Given the description of an element on the screen output the (x, y) to click on. 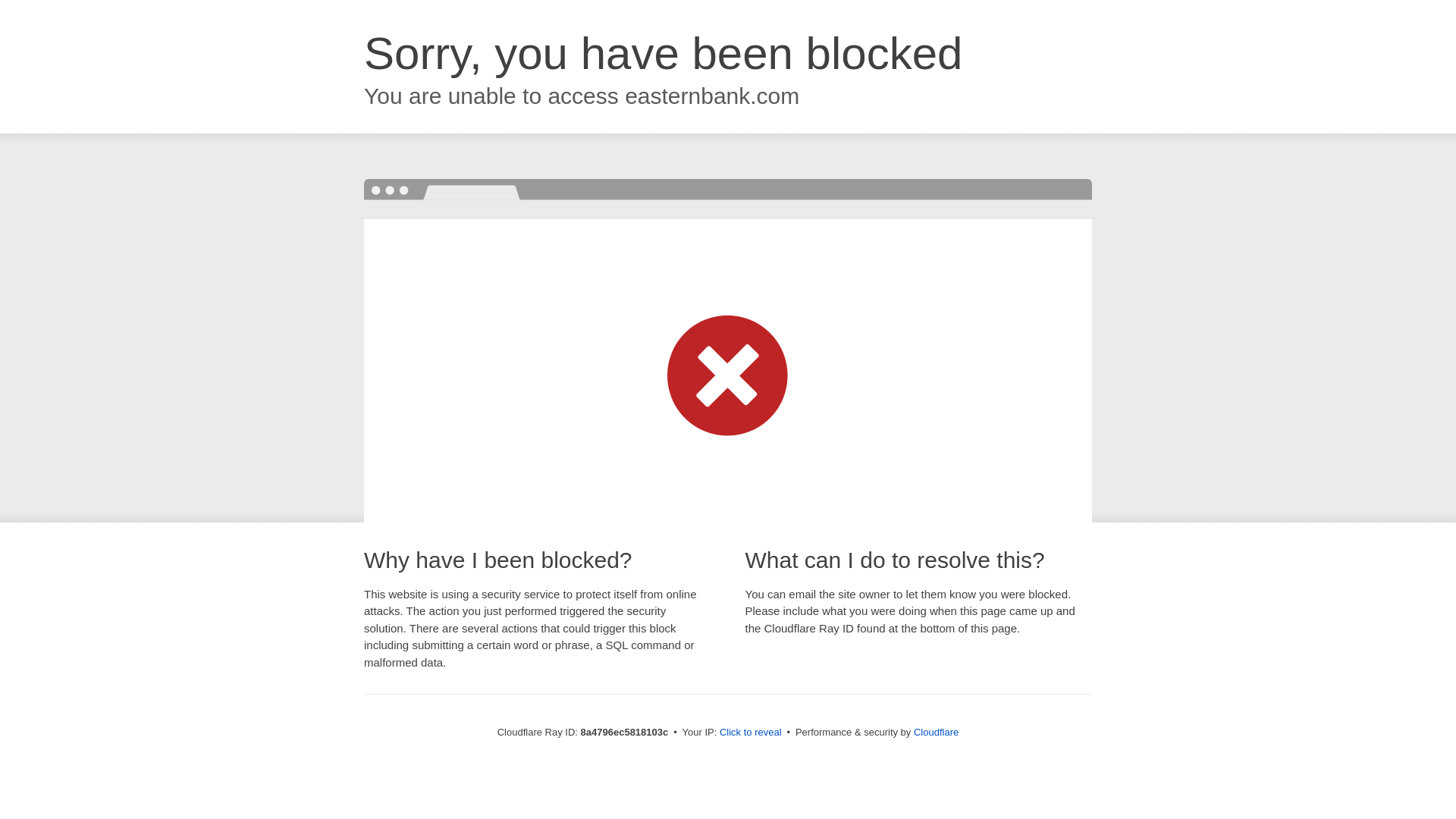
Click to reveal (750, 732)
Cloudflare (936, 731)
